Given the description of an element on the screen output the (x, y) to click on. 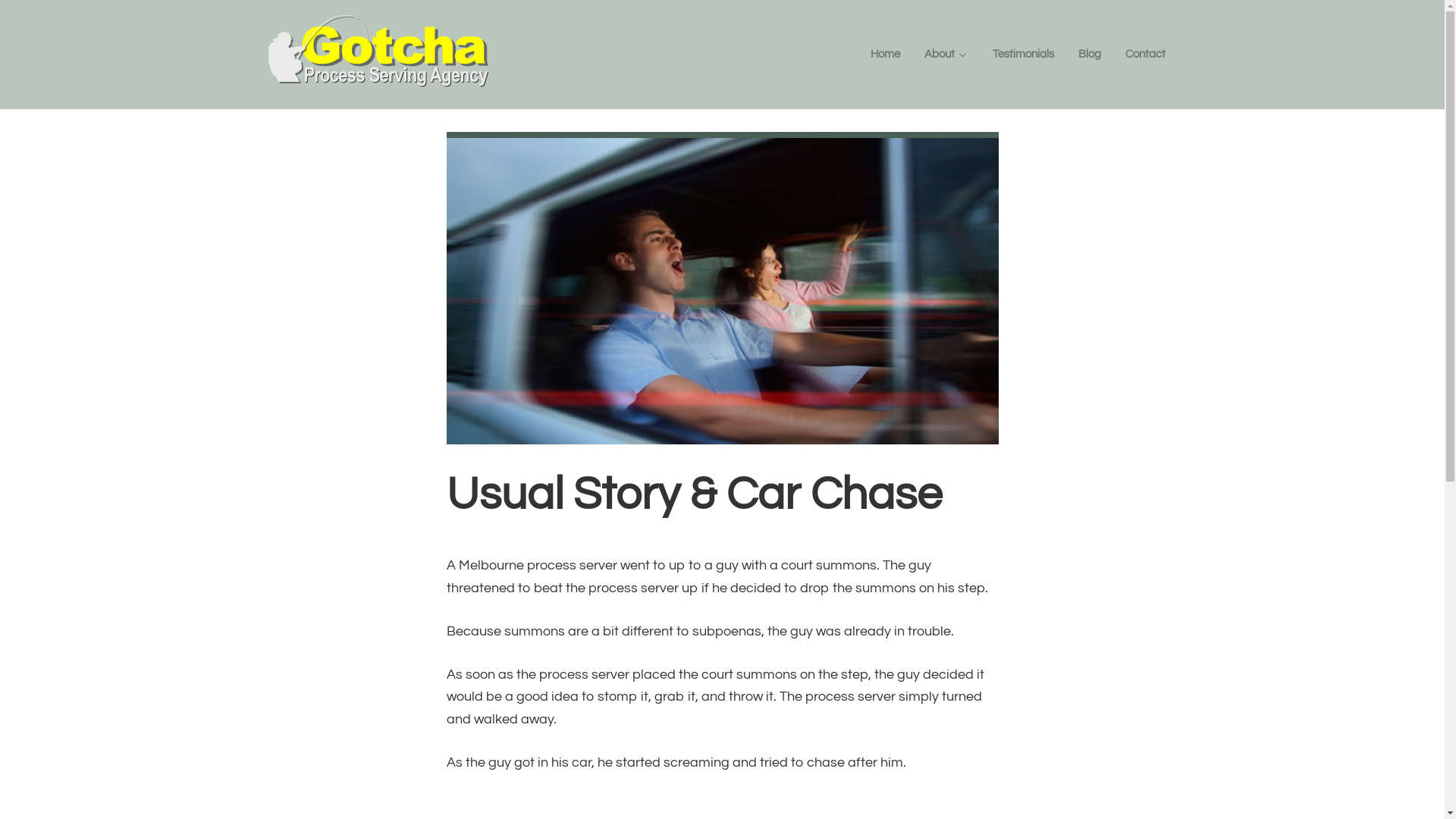
Contact Element type: text (1145, 54)
Blog Element type: text (1089, 54)
Testimonials Element type: text (1022, 54)
About Element type: text (945, 54)
Skip to primary navigation Element type: text (0, 0)
Home Element type: text (885, 54)
